Given the description of an element on the screen output the (x, y) to click on. 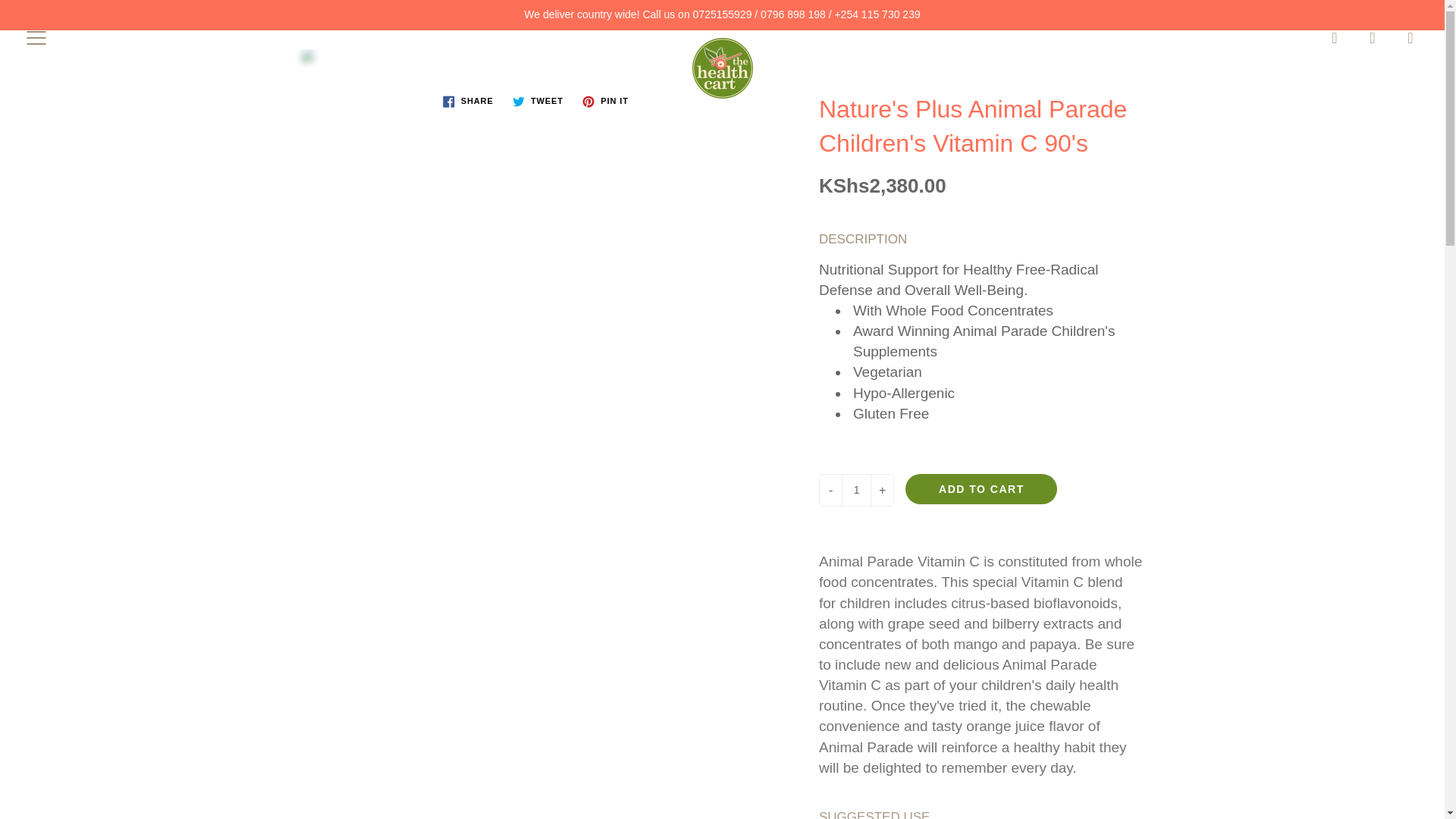
Press space bar to toggle menu (36, 37)
You have 0 items in your cart (1410, 37)
Pin on Pinterest (604, 101)
Search (1334, 37)
My account (1372, 37)
Tweet on Twitter (537, 101)
1 (855, 490)
Share on Facebook (467, 101)
Nature's Plus Animal Parade Children's Vitamin C 90's (537, 64)
